Given the description of an element on the screen output the (x, y) to click on. 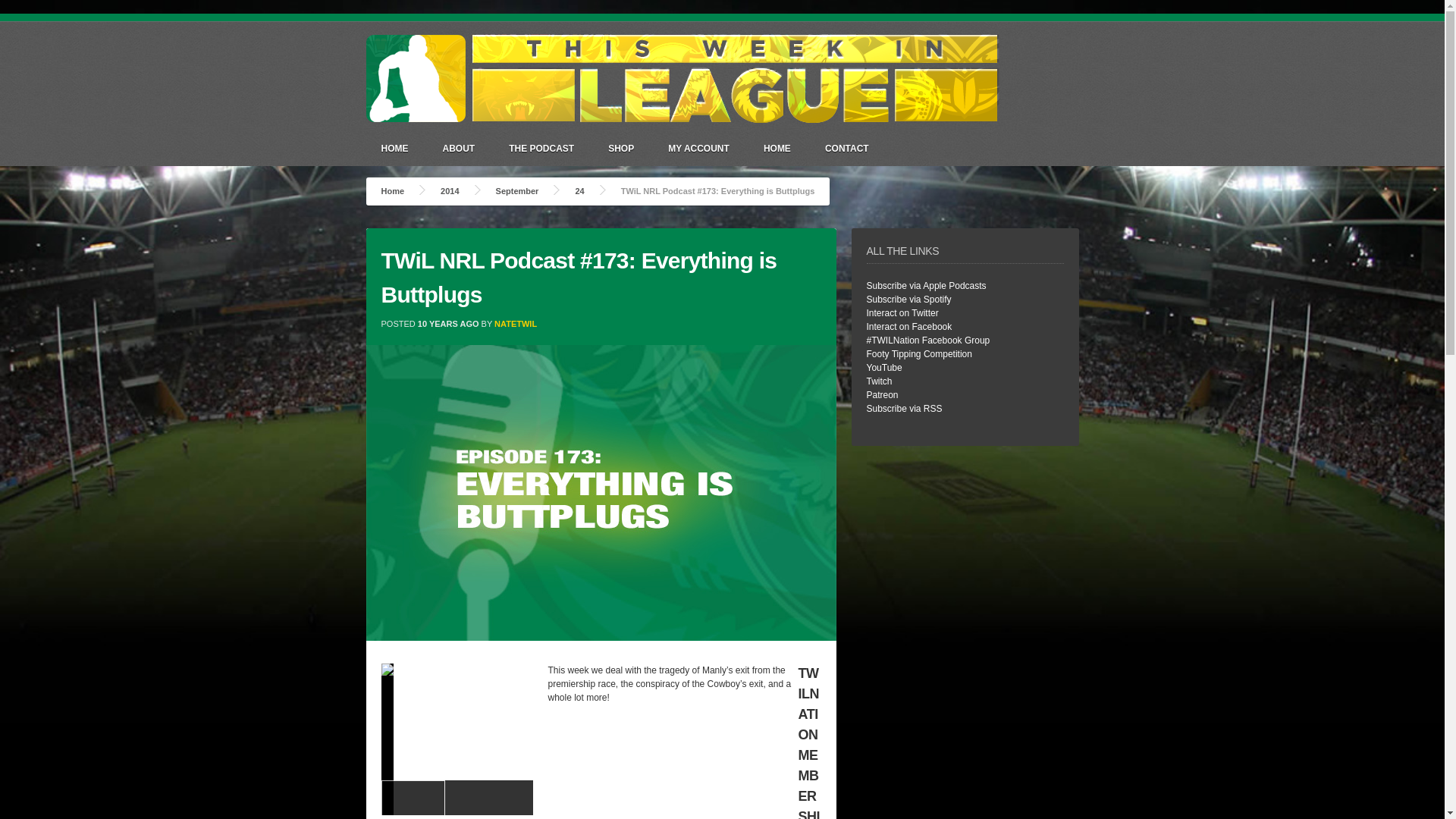
HOME (777, 147)
2014 (449, 191)
ABOUT (459, 147)
THE PODCAST (541, 147)
Subscribe via Spotify (908, 299)
Home (392, 191)
This Week in League NRL Podcast (392, 191)
September 2014 (517, 191)
Posts by NateTWiL (516, 322)
SHOP (620, 147)
Interact on Facebook (909, 326)
September (517, 191)
MY ACCOUNT (698, 147)
NATETWIL (516, 322)
HOME (394, 147)
